Given the description of an element on the screen output the (x, y) to click on. 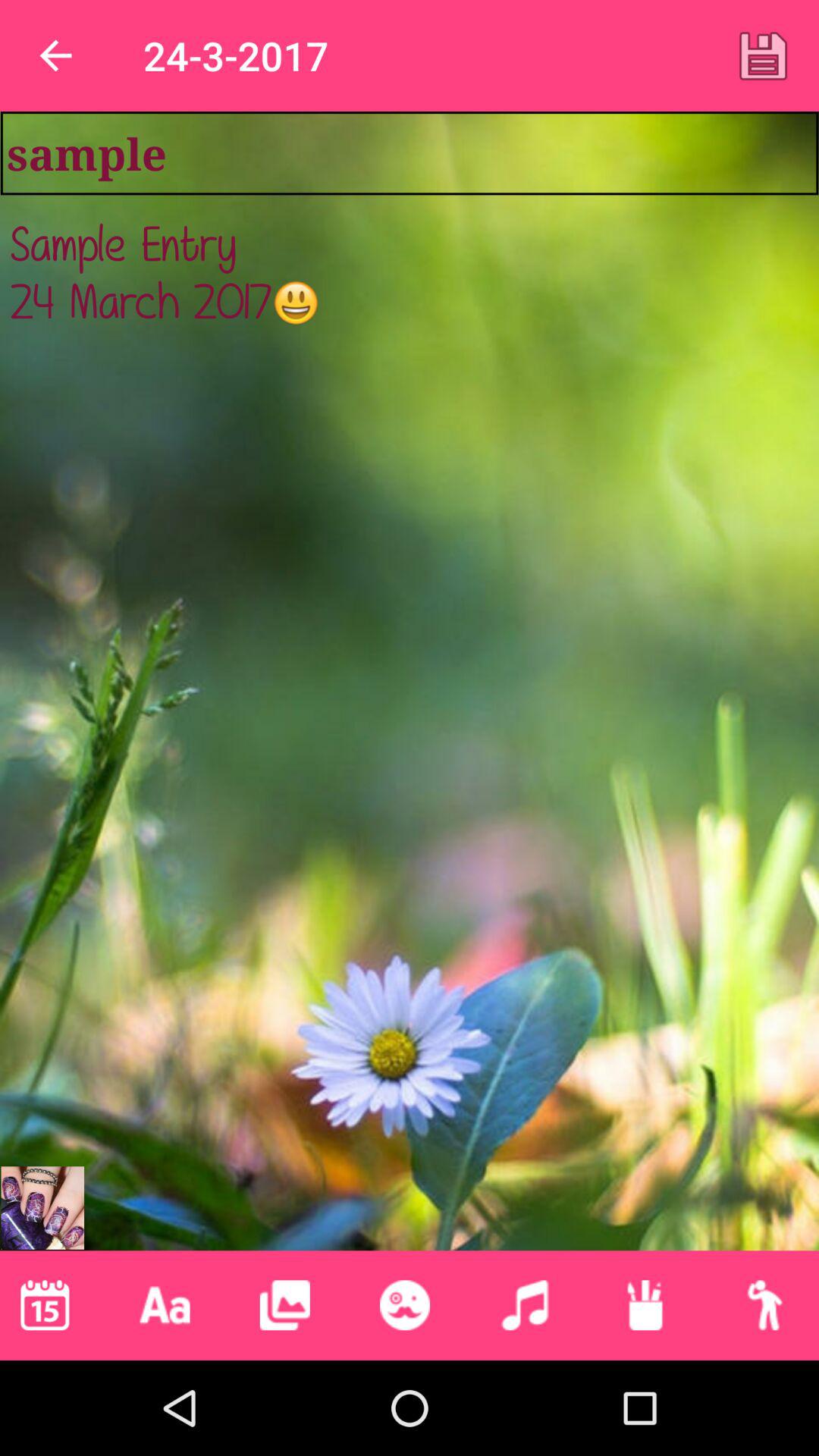
click on image (284, 1305)
